Given the description of an element on the screen output the (x, y) to click on. 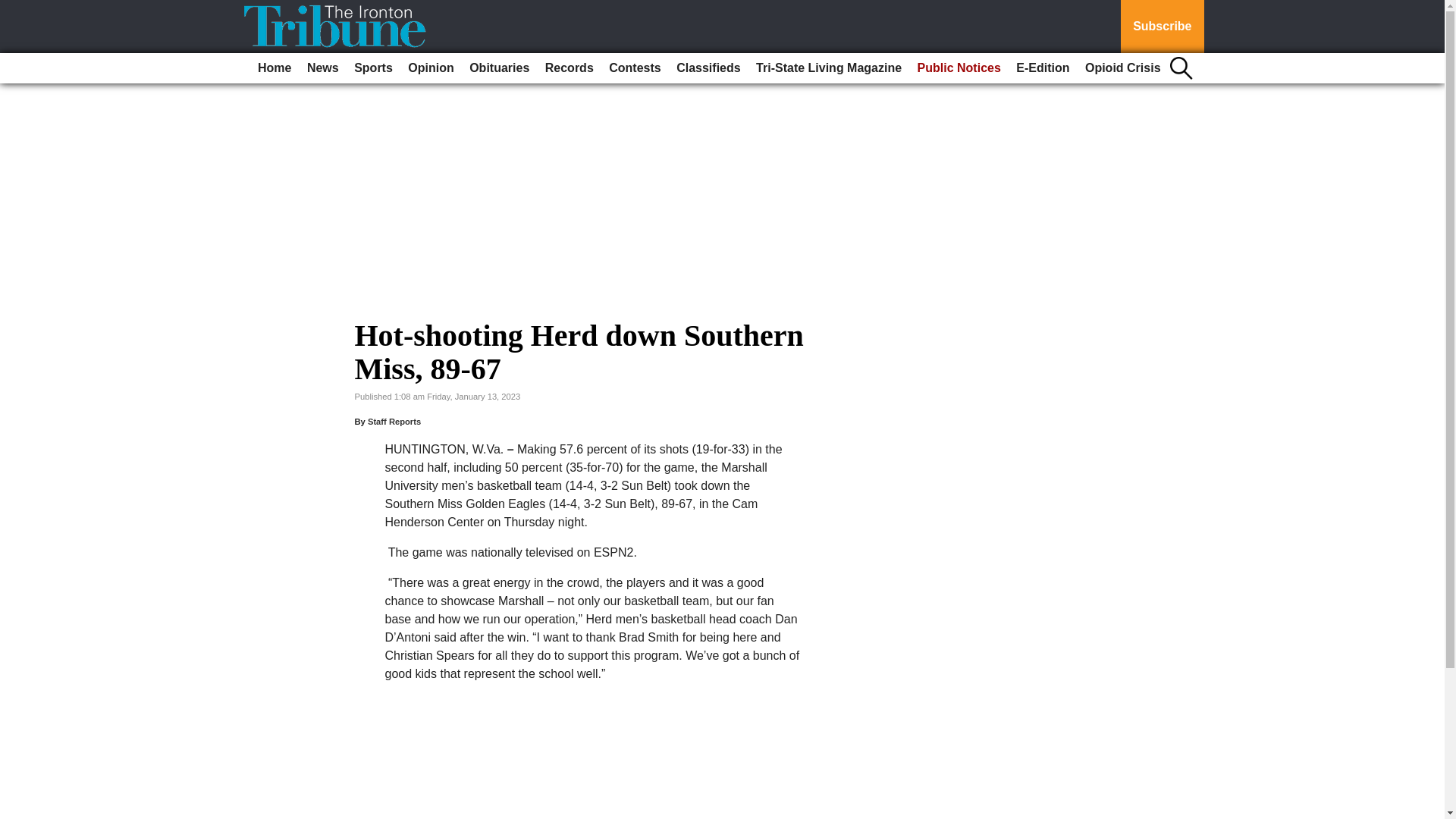
News (323, 68)
Public Notices (959, 68)
Staff Reports (394, 420)
E-Edition (1042, 68)
Obituaries (499, 68)
Classifieds (707, 68)
Contests (634, 68)
Records (568, 68)
Opioid Crisis (1122, 68)
Home (274, 68)
